Given the description of an element on the screen output the (x, y) to click on. 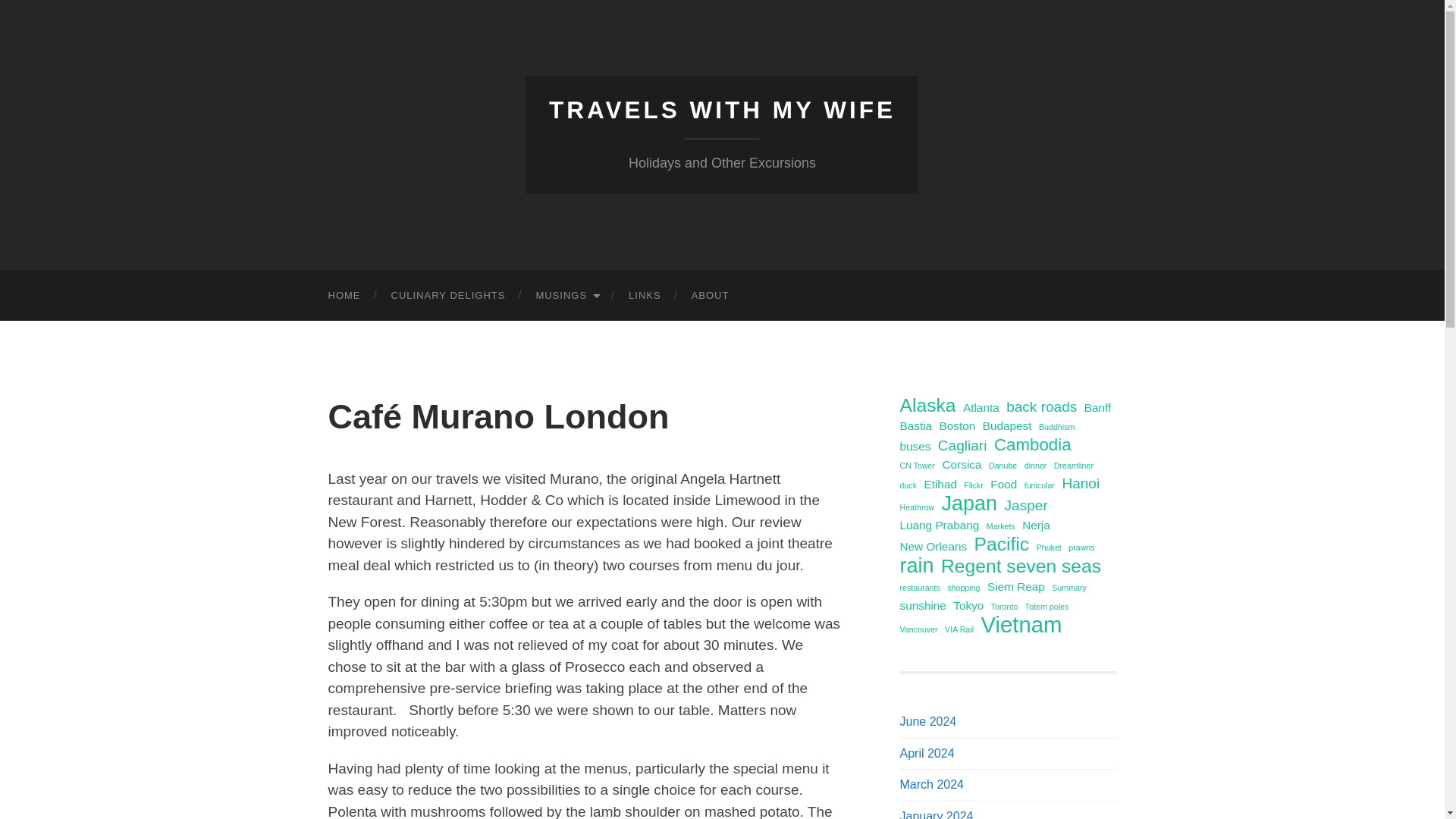
Cambodia (1032, 444)
Cagliari (962, 445)
Boston (957, 425)
Danube (1002, 465)
buses (914, 446)
MUSINGS (565, 295)
Budapest (1007, 425)
duck (908, 484)
Buddhism (1056, 426)
Dreamliner (1073, 465)
